Given the description of an element on the screen output the (x, y) to click on. 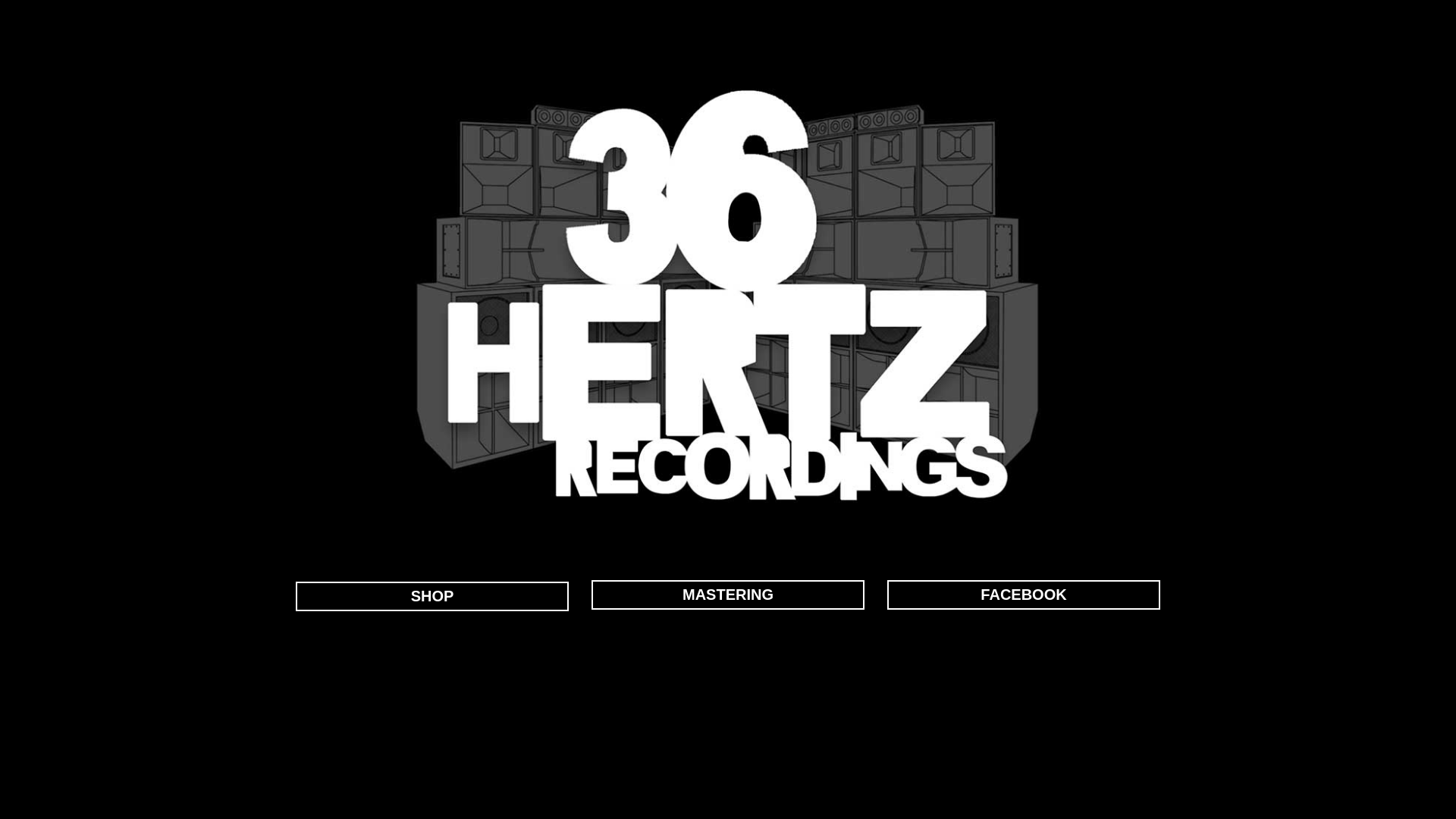
MASTERING Element type: text (727, 594)
36 Hertz Recordings Website Element type: hover (727, 295)
FACEBOOK Element type: text (1023, 594)
SHOP Element type: text (431, 596)
